Given the description of an element on the screen output the (x, y) to click on. 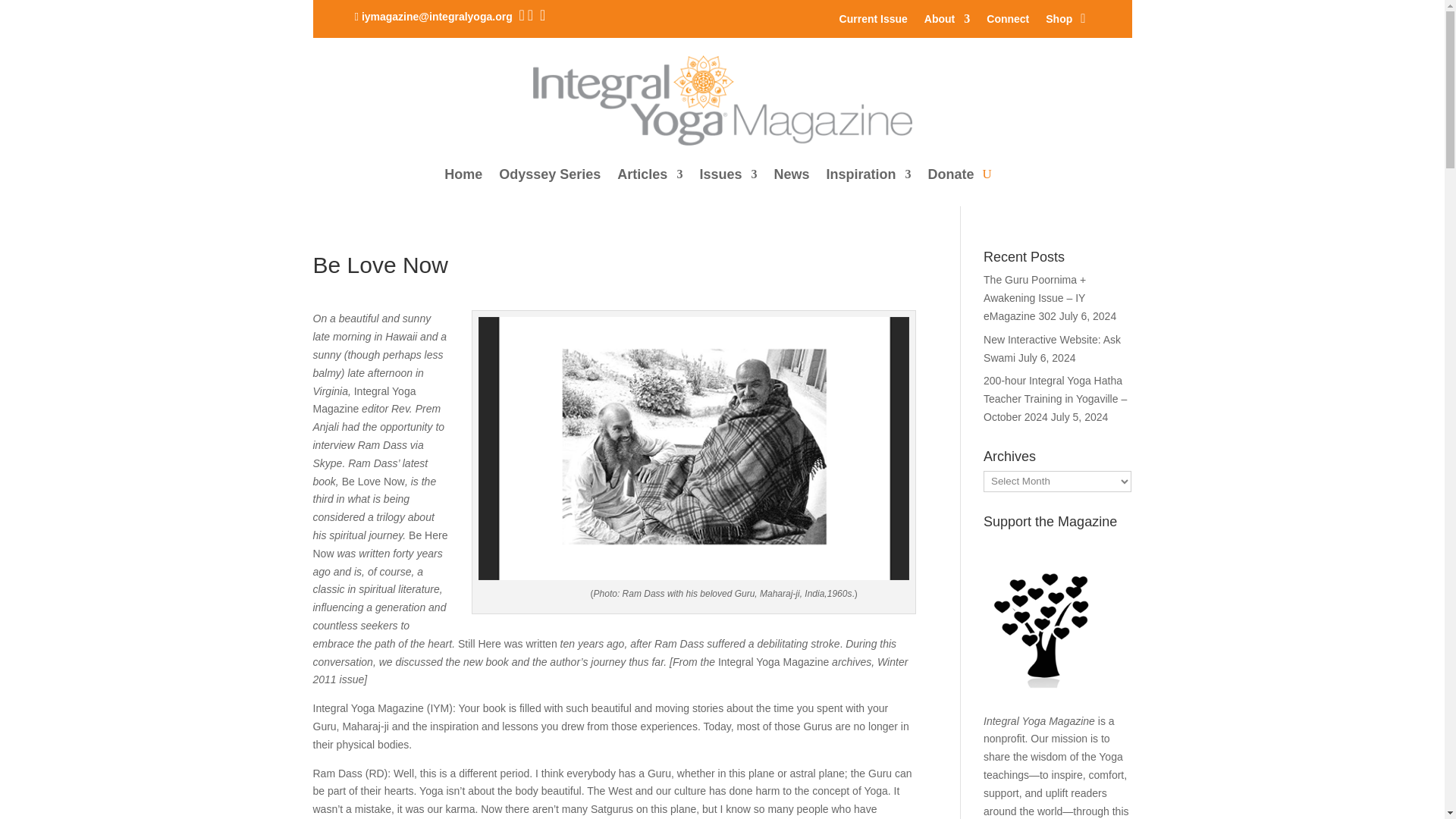
About (946, 21)
Articles (649, 174)
Current Issue (873, 21)
Connect (1008, 21)
Odyssey Series (549, 174)
Shop (1058, 21)
